Given the description of an element on the screen output the (x, y) to click on. 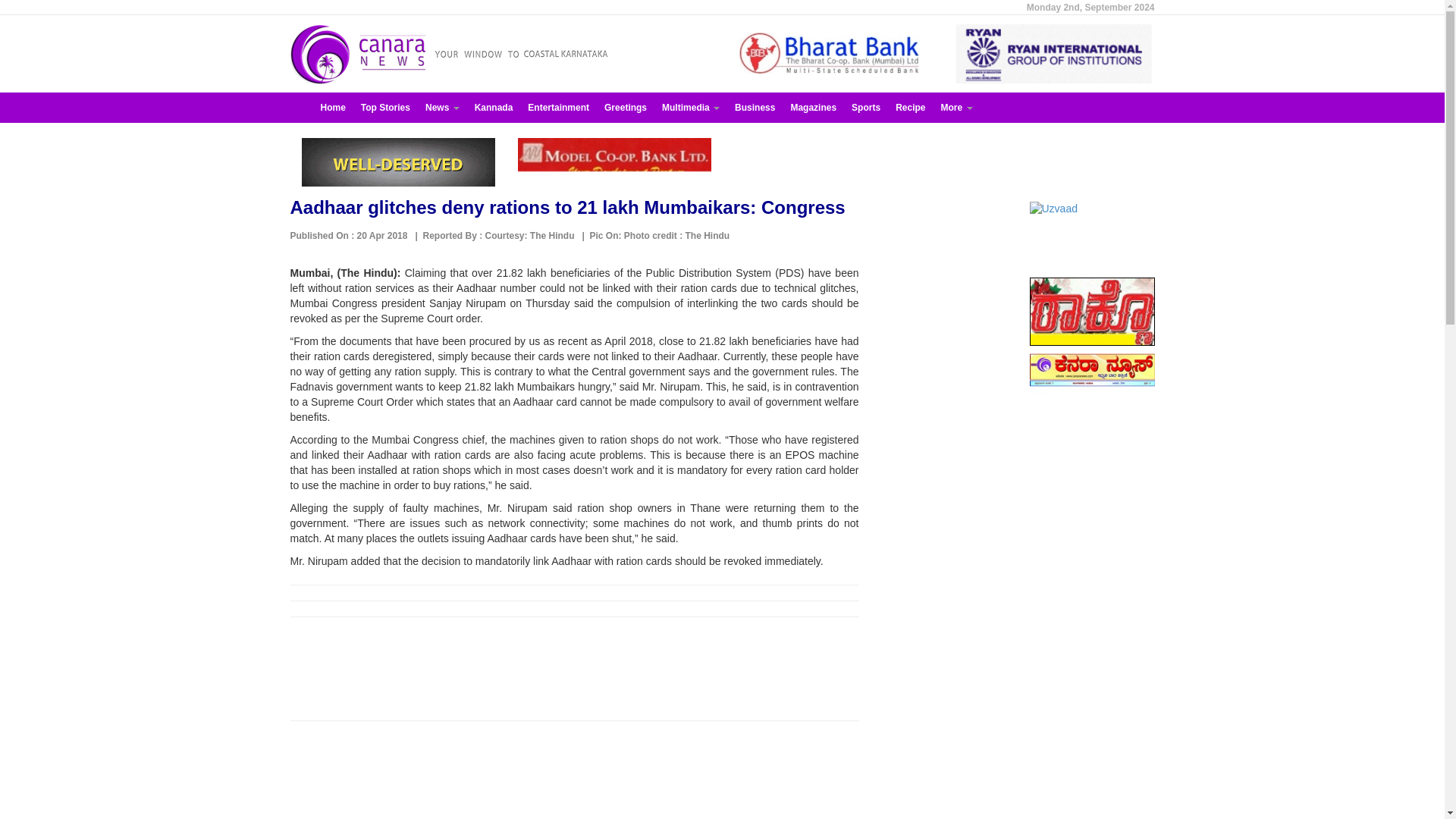
2 (833, 53)
Advertisement (574, 777)
Sports (866, 107)
freenainvest (398, 162)
Greetings (624, 107)
Business (754, 107)
News (442, 107)
Home (332, 107)
Uzvaad (1091, 235)
More (956, 107)
